Given the description of an element on the screen output the (x, y) to click on. 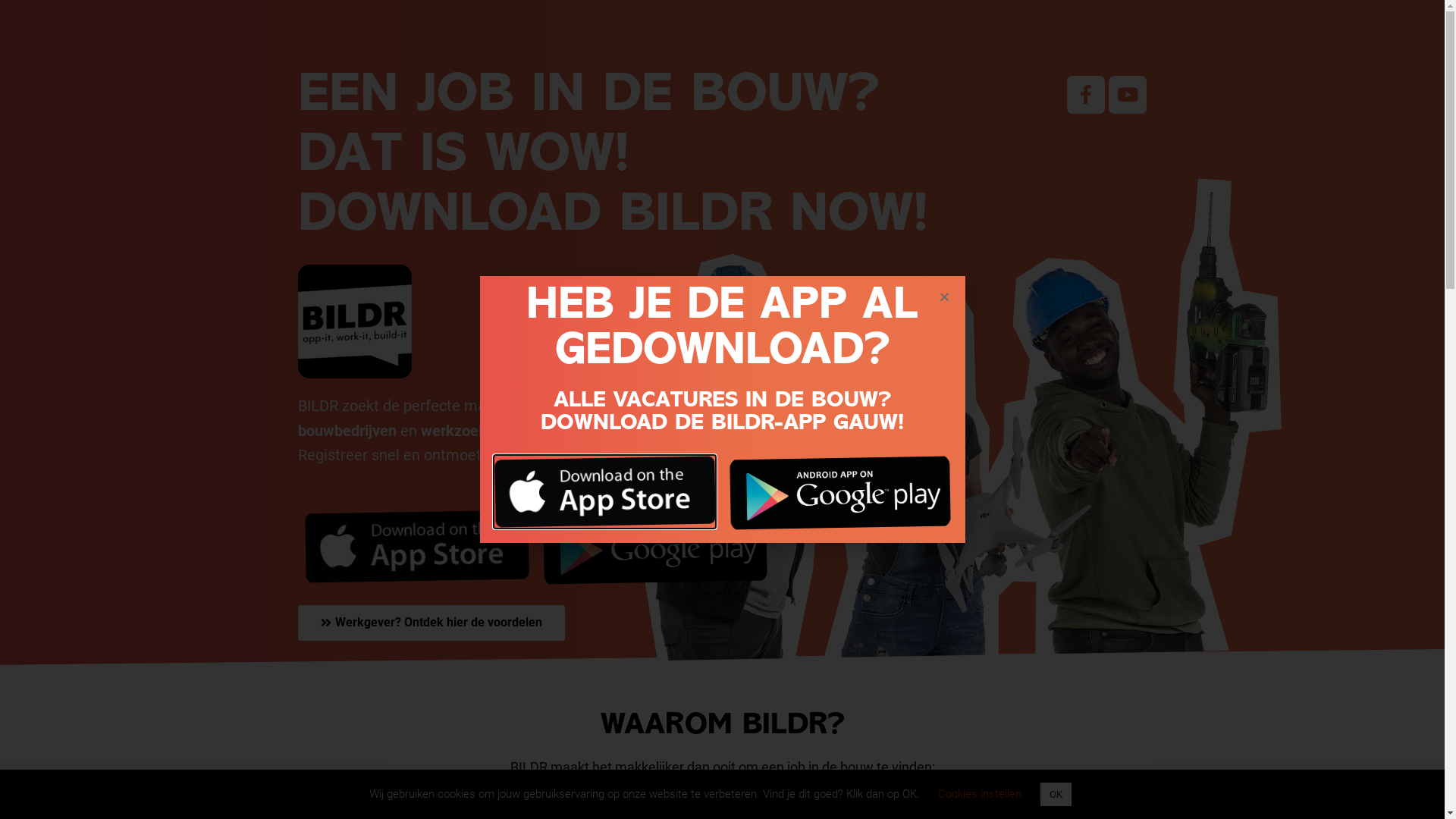
OK Element type: text (1055, 794)
Werkgever? Ontdek hier de voordelen Element type: text (430, 622)
Cookies instellen Element type: text (979, 793)
